Given the description of an element on the screen output the (x, y) to click on. 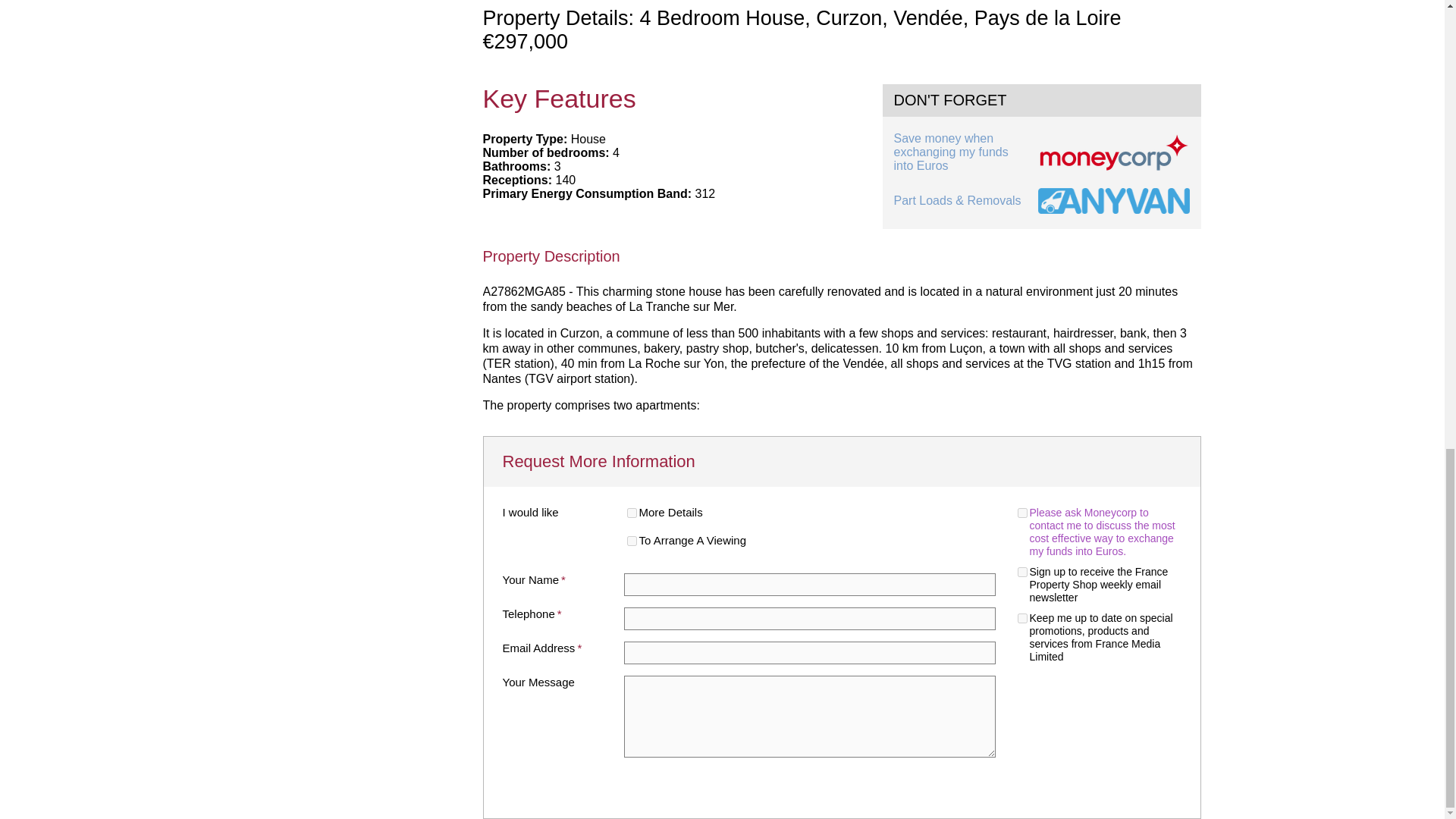
Save money when exchanging my funds into Euros (1041, 152)
y (631, 512)
y (1022, 618)
y (631, 541)
y (1022, 512)
y (1022, 572)
